Given the description of an element on the screen output the (x, y) to click on. 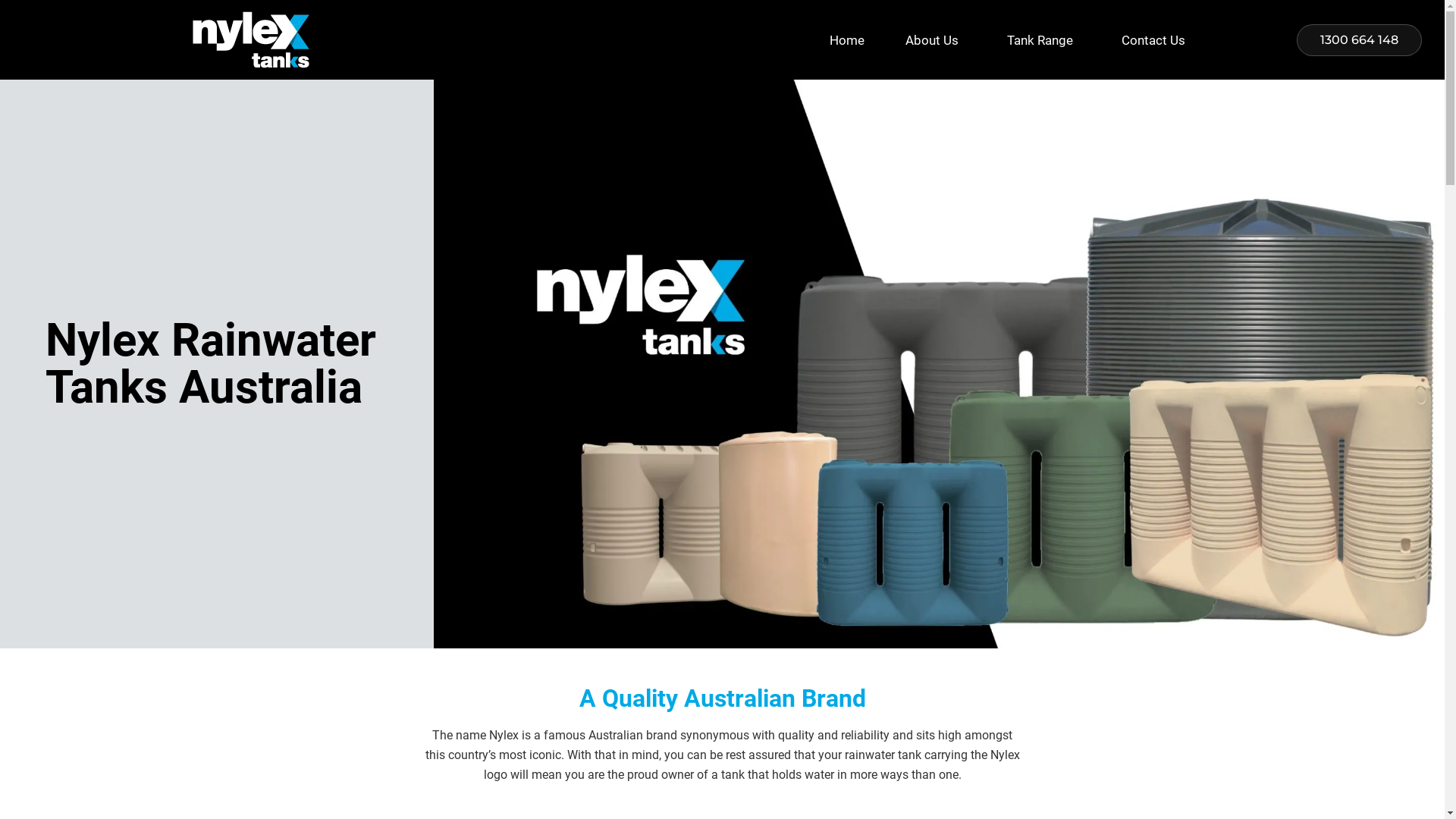
Home Element type: text (846, 39)
Contact Us Element type: text (1157, 39)
Tank Range Element type: text (1043, 39)
1300 664 148 Element type: text (1358, 40)
About Us Element type: text (935, 39)
